Given the description of an element on the screen output the (x, y) to click on. 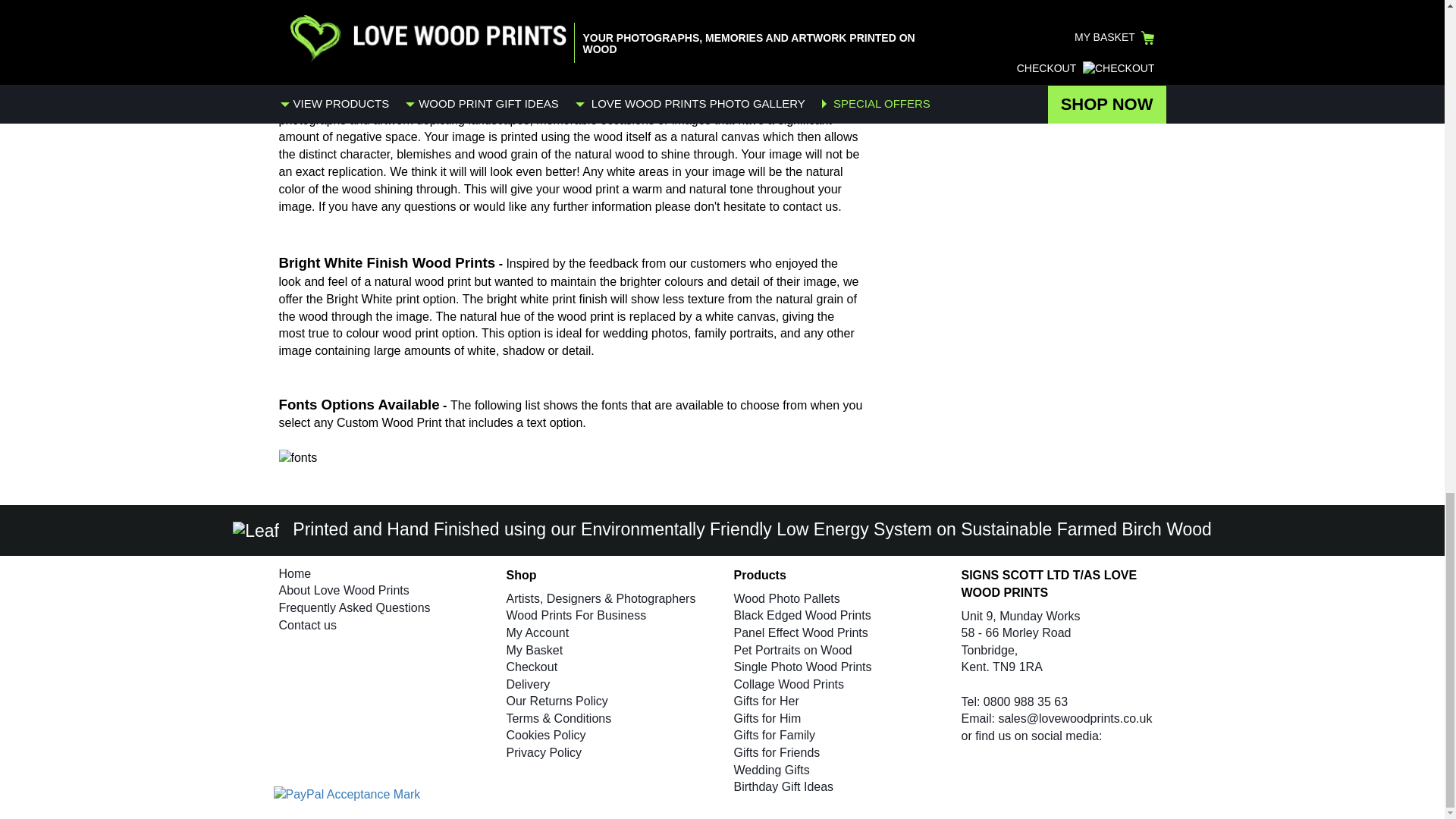
My Account (537, 632)
Delivery (528, 684)
Follow us on Twitter (1000, 765)
Frequently Asked Questions (354, 607)
How PayPal Works (346, 793)
Wood Prints For Business (576, 615)
Like us on Facebook (973, 765)
Home (295, 573)
fonts (298, 457)
Our Returns Policy (557, 700)
Checkout (531, 666)
About Love Wood Prints (344, 590)
My Basket (534, 649)
Contact us (307, 625)
Cookies Policy (546, 735)
